Given the description of an element on the screen output the (x, y) to click on. 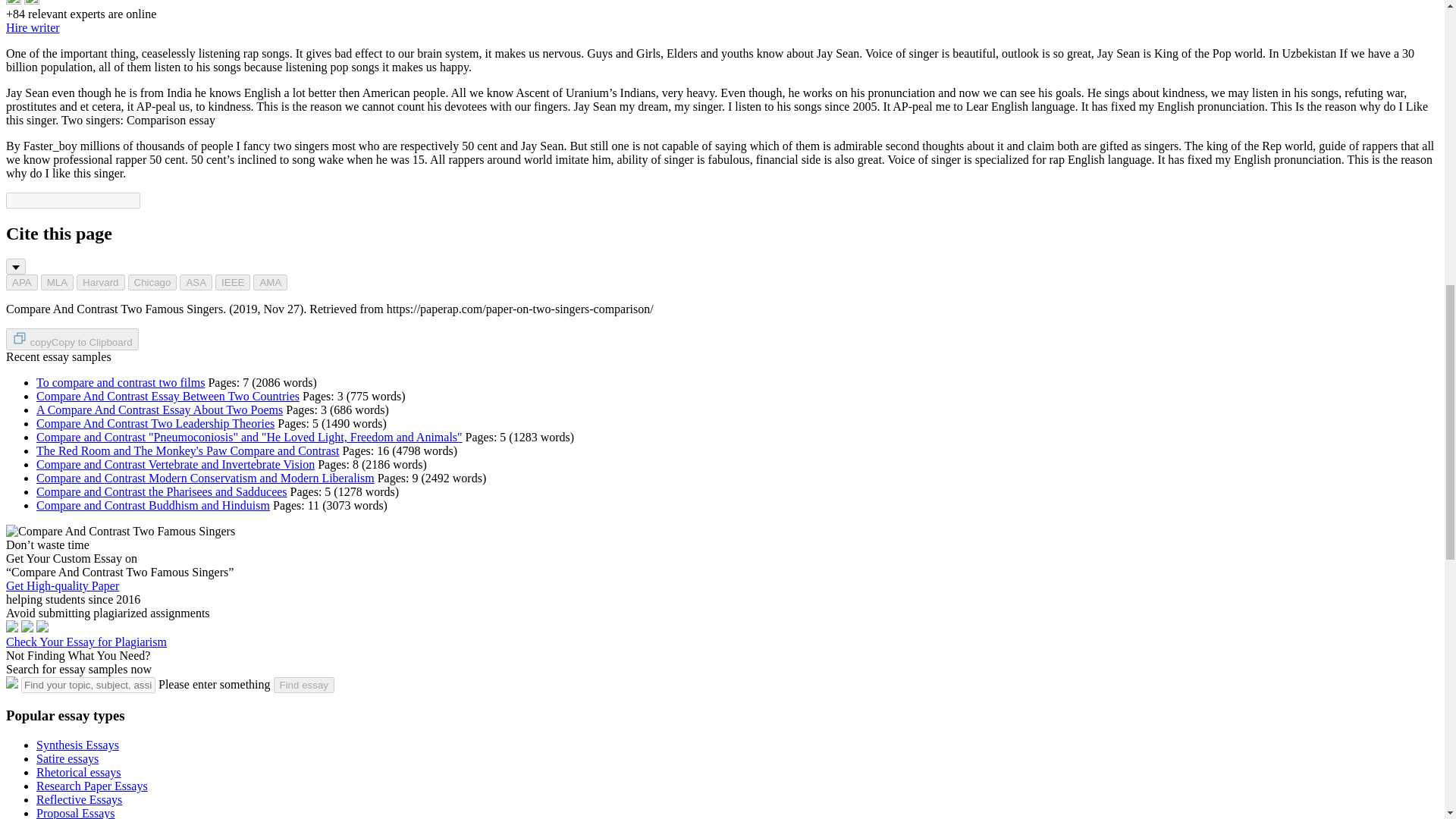
AMA (269, 282)
Chicago (152, 282)
The Red Room and The Monkey's Paw Compare and Contrast (187, 450)
Check Your Essay for Plagiarism (86, 641)
copyCopy to Clipboard (71, 339)
A Compare And Contrast Essay About Two Poems (159, 409)
To compare and contrast two films (120, 382)
Compare And Contrast Two Leadership Theories (155, 422)
Compare and Contrast the Pharisees and Sadducees (161, 491)
Harvard (100, 282)
ASA (195, 282)
Get High-quality Paper (62, 585)
APA (21, 282)
